Given the description of an element on the screen output the (x, y) to click on. 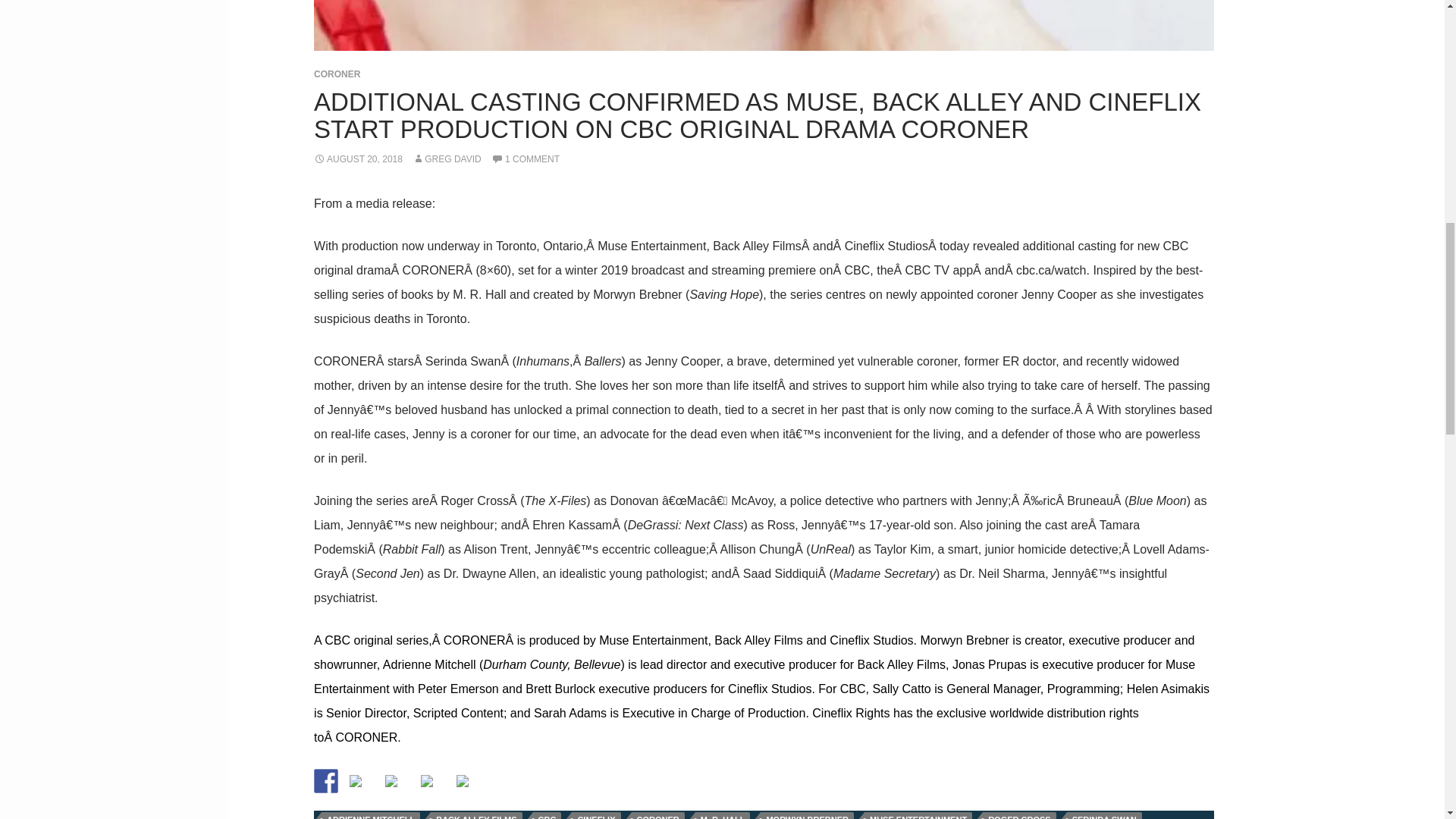
SERINDA SWAN (1104, 815)
Share by email (462, 780)
Share by email (468, 786)
Share on Reddit (397, 786)
Share on Twitter (355, 780)
M. R. HALL (723, 815)
AUGUST 20, 2018 (358, 158)
CBC (547, 815)
CORONER (657, 815)
